Given the description of an element on the screen output the (x, y) to click on. 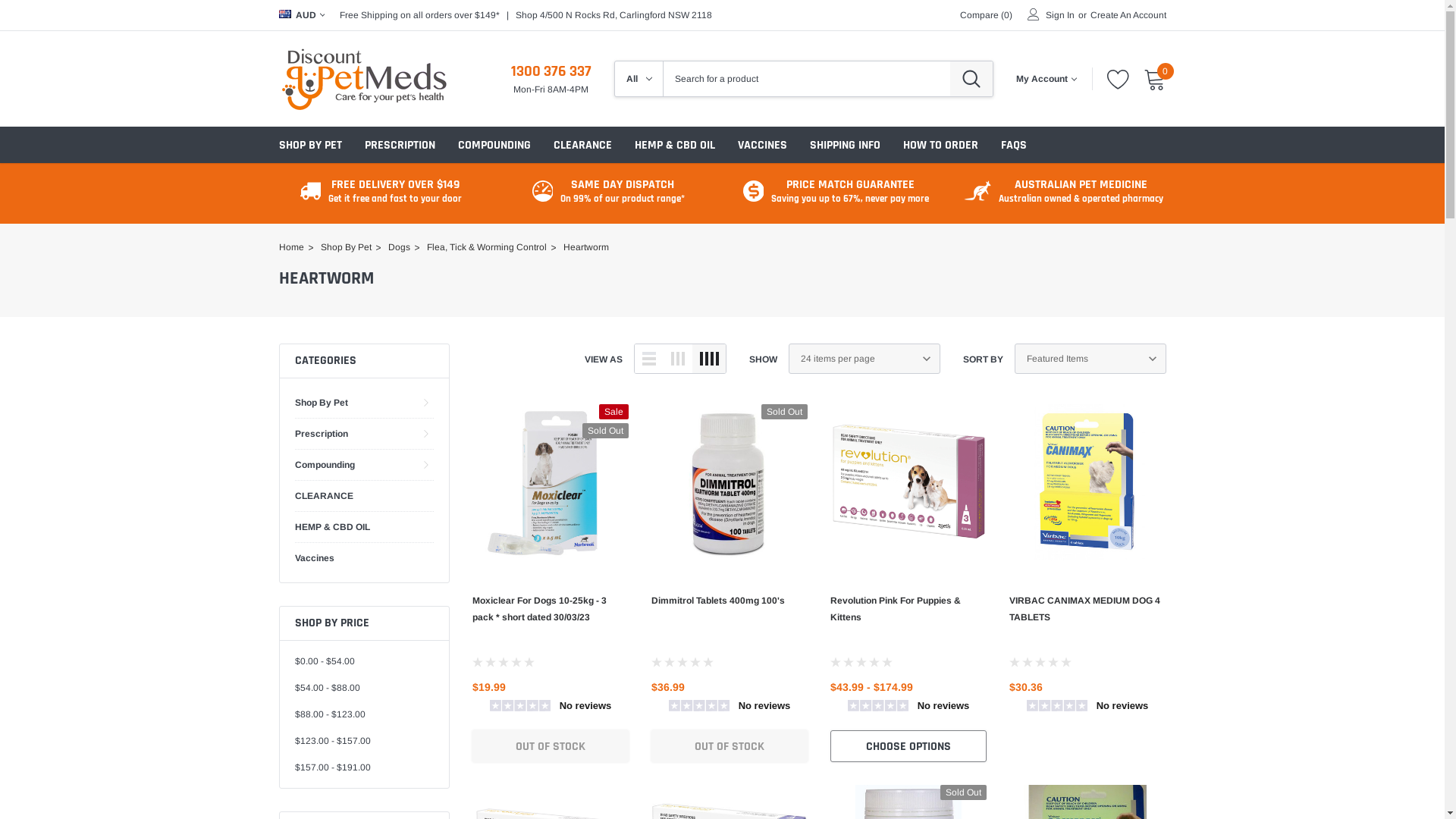
SHIPPING INFO Element type: text (844, 144)
$123.00 - $157.00 Element type: text (332, 740)
Moxiclear For Dogs 10-25kg - 3 pack * short dated 30/03/23 Element type: text (538, 608)
Prescription Element type: text (320, 433)
Grid View 3 Element type: hover (676, 358)
0 Element type: text (1154, 78)
VACCINES Element type: text (761, 144)
AUD Element type: text (302, 15)
CLEARANCE Element type: text (323, 495)
Dimmitrol Tablets 400mg 100's Element type: hover (729, 482)
Create An Account Element type: text (1128, 14)
Compounding Element type: text (324, 464)
PRICE MATCH GUARANTEE
Saving you up to 67%, never pay more Element type: text (849, 191)
Dimmitrol Tablets 400mg 100's Element type: text (717, 600)
HOW TO ORDER Element type: text (939, 144)
$88.00 - $123.00 Element type: text (329, 713)
COMPOUNDING Element type: text (494, 145)
Shop By Pet Element type: text (320, 402)
Customer reviews powered by Trustpilot Element type: hover (908, 708)
OUT OF STOCK Element type: text (549, 746)
Customer reviews powered by Trustpilot Element type: hover (729, 708)
OUT OF STOCK Element type: text (729, 746)
Vaccines Element type: text (313, 557)
Customer reviews powered by Trustpilot Element type: hover (1087, 708)
Sign In Element type: text (1058, 14)
HEMP & CBD OIL Element type: text (331, 526)
$157.00 - $191.00 Element type: text (332, 767)
Flea, Tick & Worming Control Element type: text (486, 246)
Grid View 4 Element type: hover (707, 358)
AUSTRALIAN PET MEDICINE
Australian owned & operated pharmacy Element type: text (1080, 191)
PRESCRIPTION Element type: text (399, 145)
Dogs Element type: text (399, 246)
Compare (0) Element type: text (986, 14)
FAQS Element type: text (1013, 144)
CLEARANCE Element type: text (582, 144)
Discount Pet Meds Element type: hover (364, 78)
Moxiclear For Dogs 10-25kg Element type: hover (549, 482)
CHOOSE OPTIONS Element type: text (908, 746)
SAME DAY DISPATCH
On 99% of our product range* Element type: text (622, 191)
HEMP & CBD OIL Element type: text (673, 144)
SHOP BY PET Element type: text (310, 145)
Revolution Pink For Puppies & Kittens Element type: hover (908, 482)
Revolution Pink For Puppies & Kittens Element type: text (895, 608)
$54.00 - $88.00 Element type: text (326, 687)
My Account Element type: text (1046, 78)
$0.00 - $54.00 Element type: text (324, 660)
VIRBAC CANIMAX MEDIUM DOG 4 TABLETS Element type: hover (1087, 482)
Shop By Pet Element type: text (345, 246)
Free Shipping on all orders over $149* Element type: text (419, 14)
Home Element type: text (291, 246)
VIRBAC CANIMAX MEDIUM DOG 4 TABLETS Element type: text (1084, 608)
Customer reviews powered by Trustpilot Element type: hover (549, 708)
1300 376 337 Element type: text (551, 71)
List View Element type: hover (647, 358)
FREE DELIVERY OVER $149
Get it free and fast to your door Element type: text (394, 191)
